Given the description of an element on the screen output the (x, y) to click on. 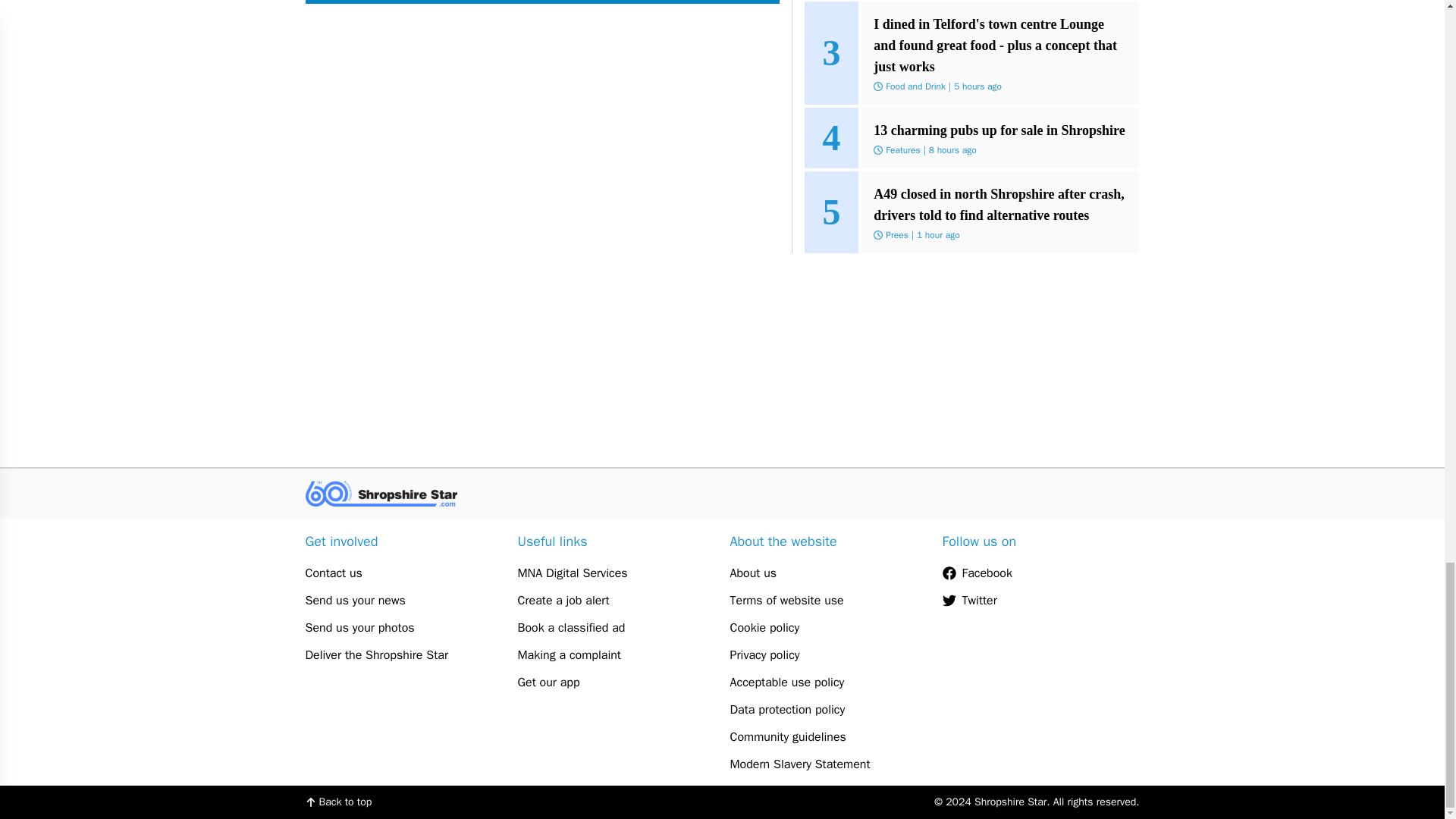
Features (902, 150)
Prees (896, 234)
Food and Drink (914, 86)
